Given the description of an element on the screen output the (x, y) to click on. 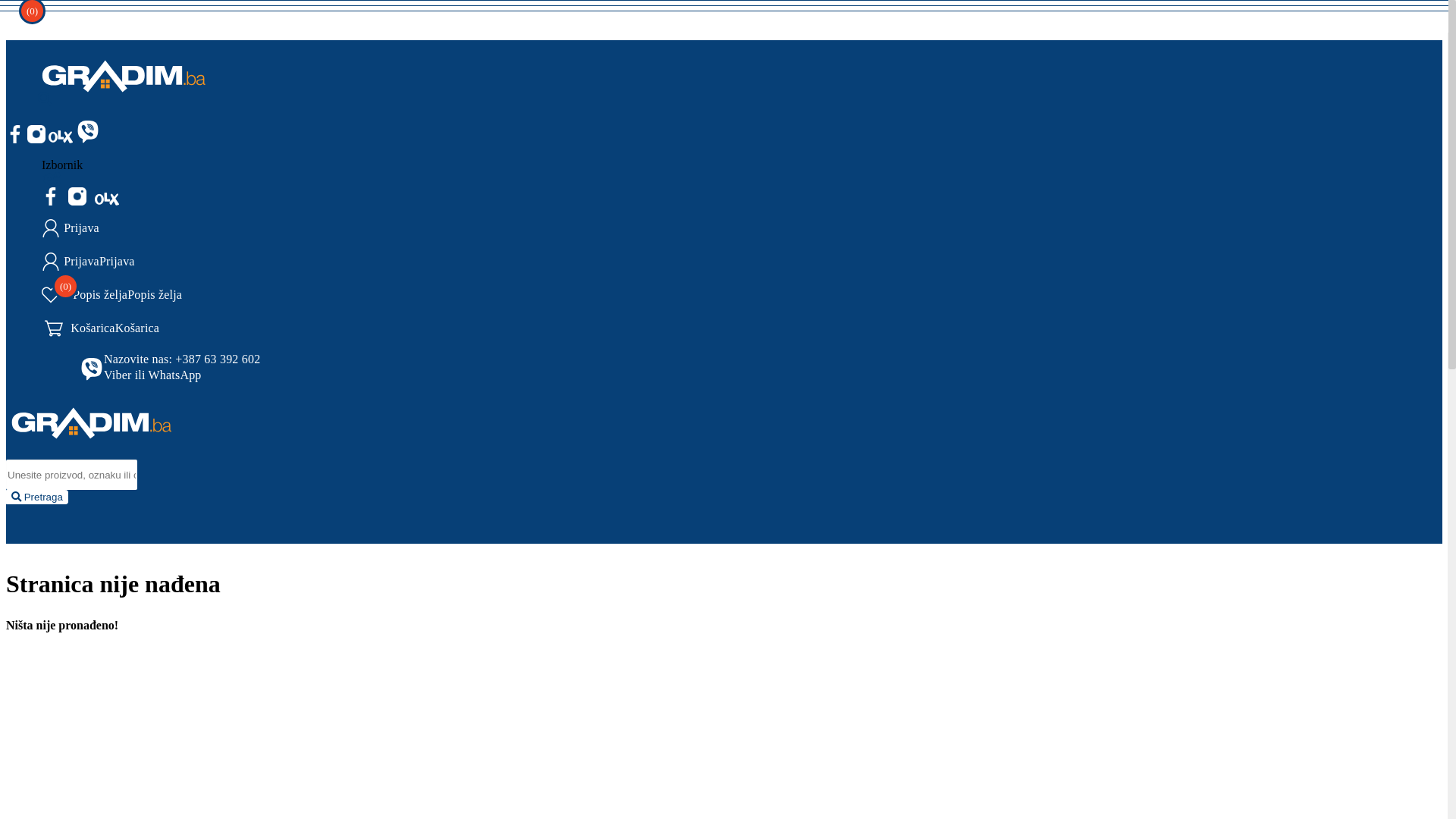
Prijava
Prijava Element type: text (506, 258)
Logotip Element type: text (90, 433)
Unesite proizvod, oznaku ili opis proizvoda
Pretraga Element type: text (37, 496)
Nazovite nas: +387 63 392 602


Viber ili WhatsApp Element type: text (525, 365)
Logotip Element type: text (123, 72)
Prijava Element type: text (506, 224)
